Given the description of an element on the screen output the (x, y) to click on. 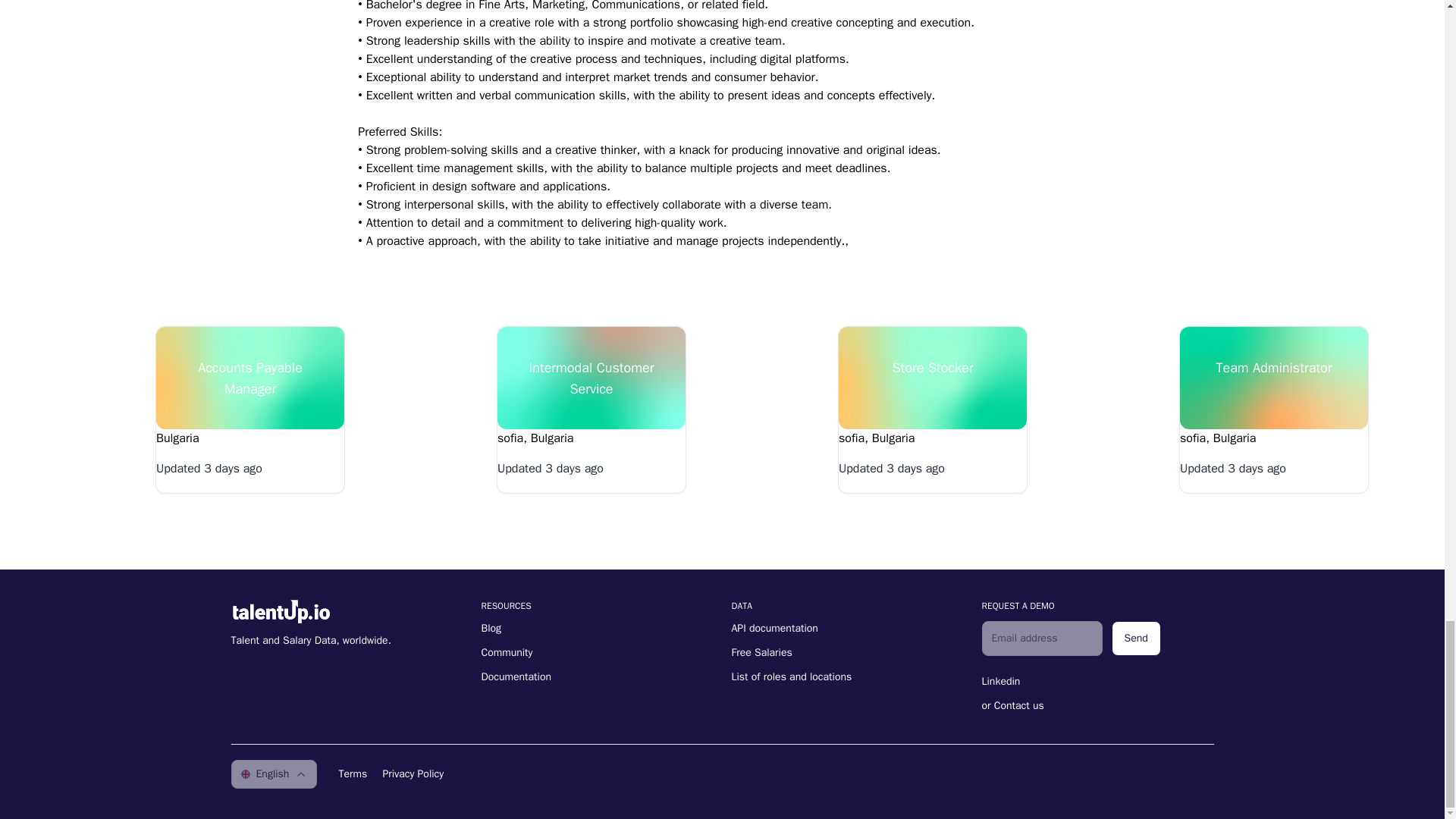
Linkedin (1000, 681)
Bulgaria (177, 437)
Free Salaries (761, 652)
Send (1136, 638)
Community (506, 652)
Blog (490, 628)
List of roles and locations (790, 676)
Accounts Payable Manager (249, 385)
API documentation (773, 628)
Team Administrator (1273, 385)
Intermodal Customer Service (591, 385)
Documentation (515, 676)
sofia, Bulgaria (1217, 437)
sofia, Bulgaria (535, 437)
sofia, Bulgaria (876, 437)
